Given the description of an element on the screen output the (x, y) to click on. 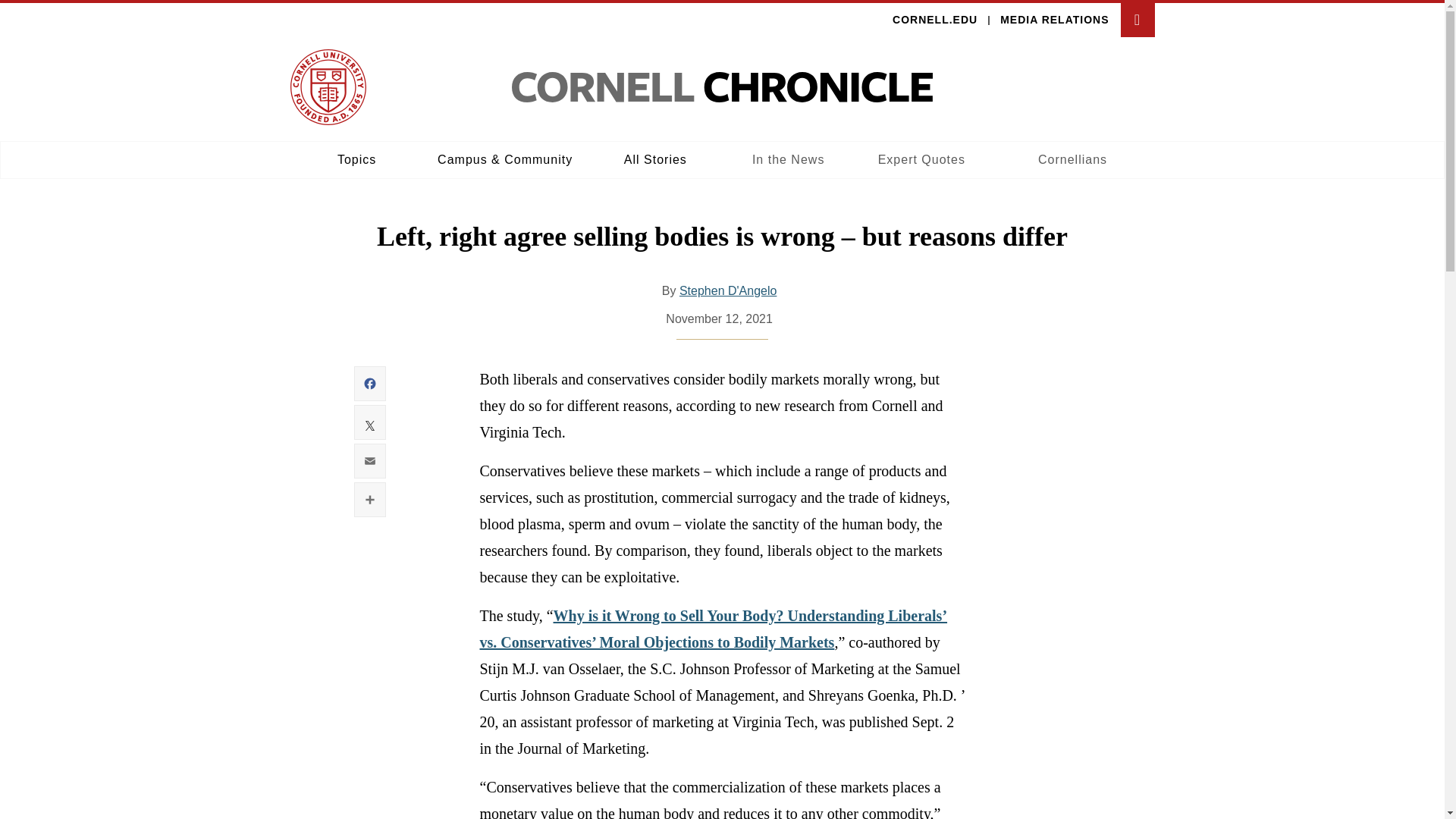
Cornell University (327, 87)
MEDIA RELATIONS (1053, 19)
CORNELL.EDU (727, 290)
